Given the description of an element on the screen output the (x, y) to click on. 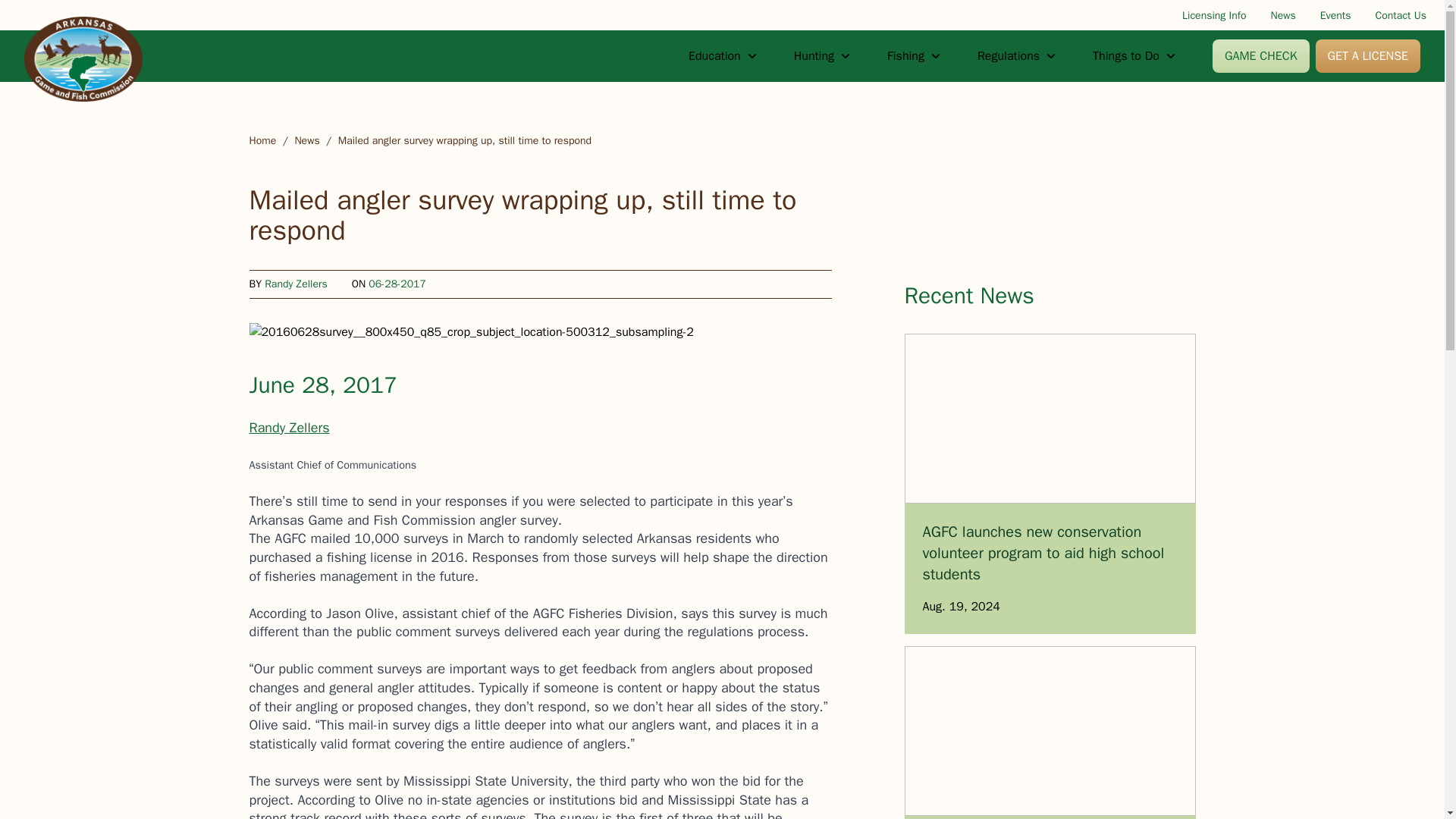
News (1283, 15)
Education (722, 55)
Hunting (821, 55)
Contact Us (1400, 15)
Licensing Info (1214, 15)
Events (1335, 15)
